Given the description of an element on the screen output the (x, y) to click on. 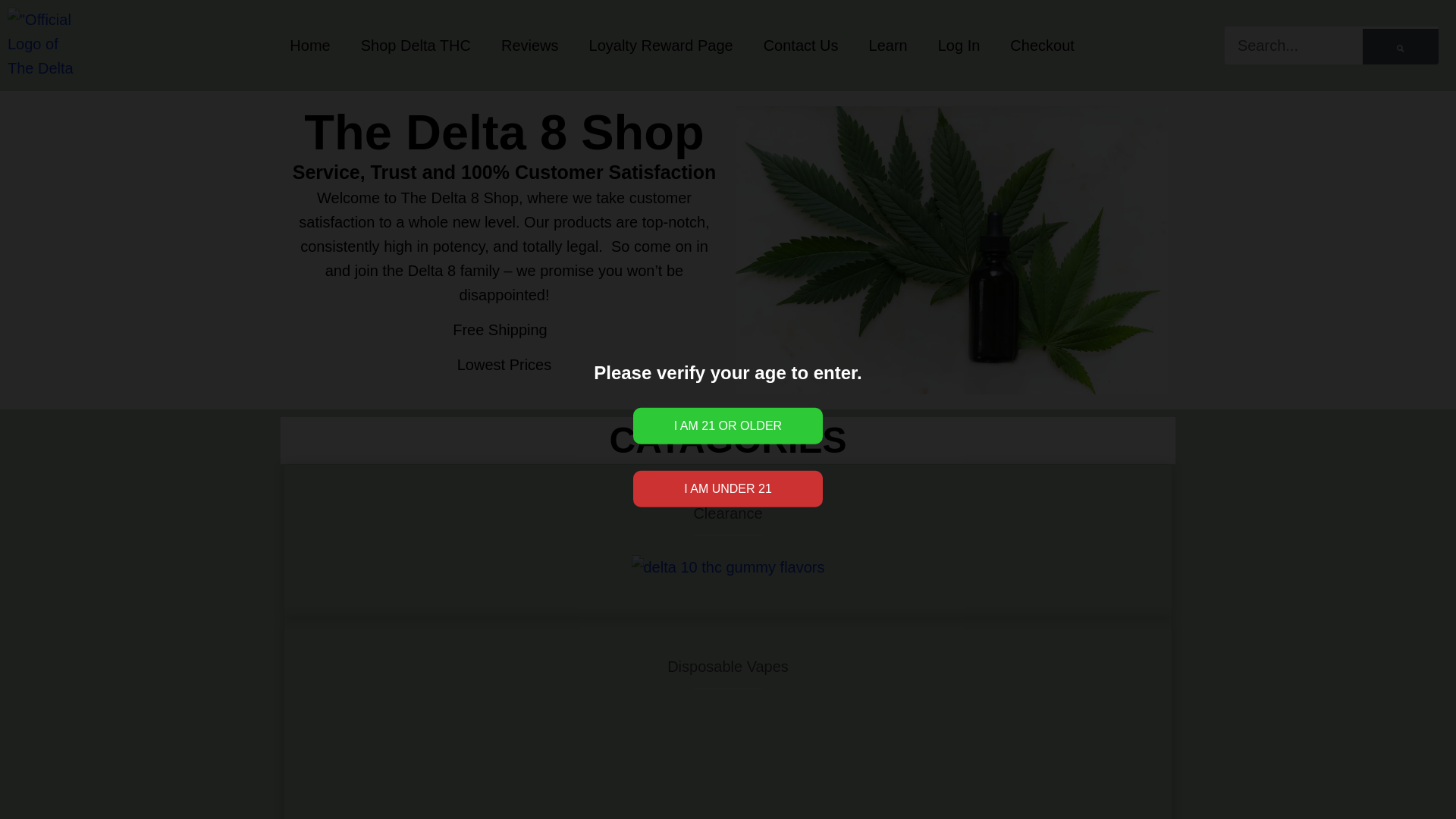
I am under 21 (727, 488)
Reviews (529, 45)
Log In (959, 45)
Loyalty Reward Page (660, 45)
Learn (888, 45)
Shop Delta THC (416, 45)
Contact Us (800, 45)
I am 21 or older (727, 425)
Home (310, 45)
Checkout (1041, 45)
